Given the description of an element on the screen output the (x, y) to click on. 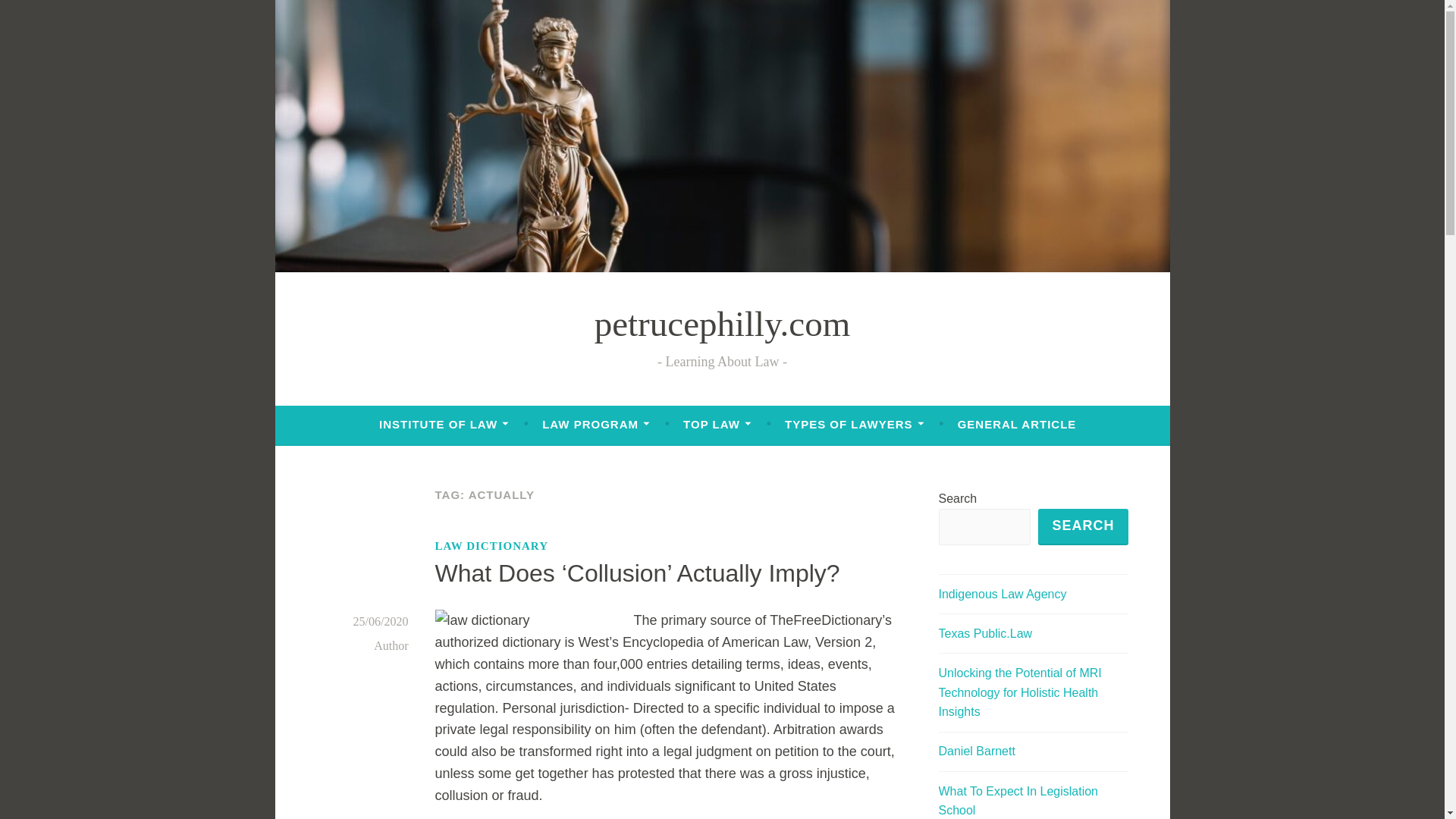
LAW PROGRAM (595, 424)
Author (390, 645)
petrucephilly.com (722, 323)
Indigenous Law Agency (1003, 594)
Texas Public.Law (985, 633)
LAW DICTIONARY (491, 546)
TYPES OF LAWYERS (854, 424)
INSTITUTE OF LAW (443, 424)
SEARCH (1082, 526)
GENERAL ARTICLE (1017, 424)
TOP LAW (716, 424)
